Given the description of an element on the screen output the (x, y) to click on. 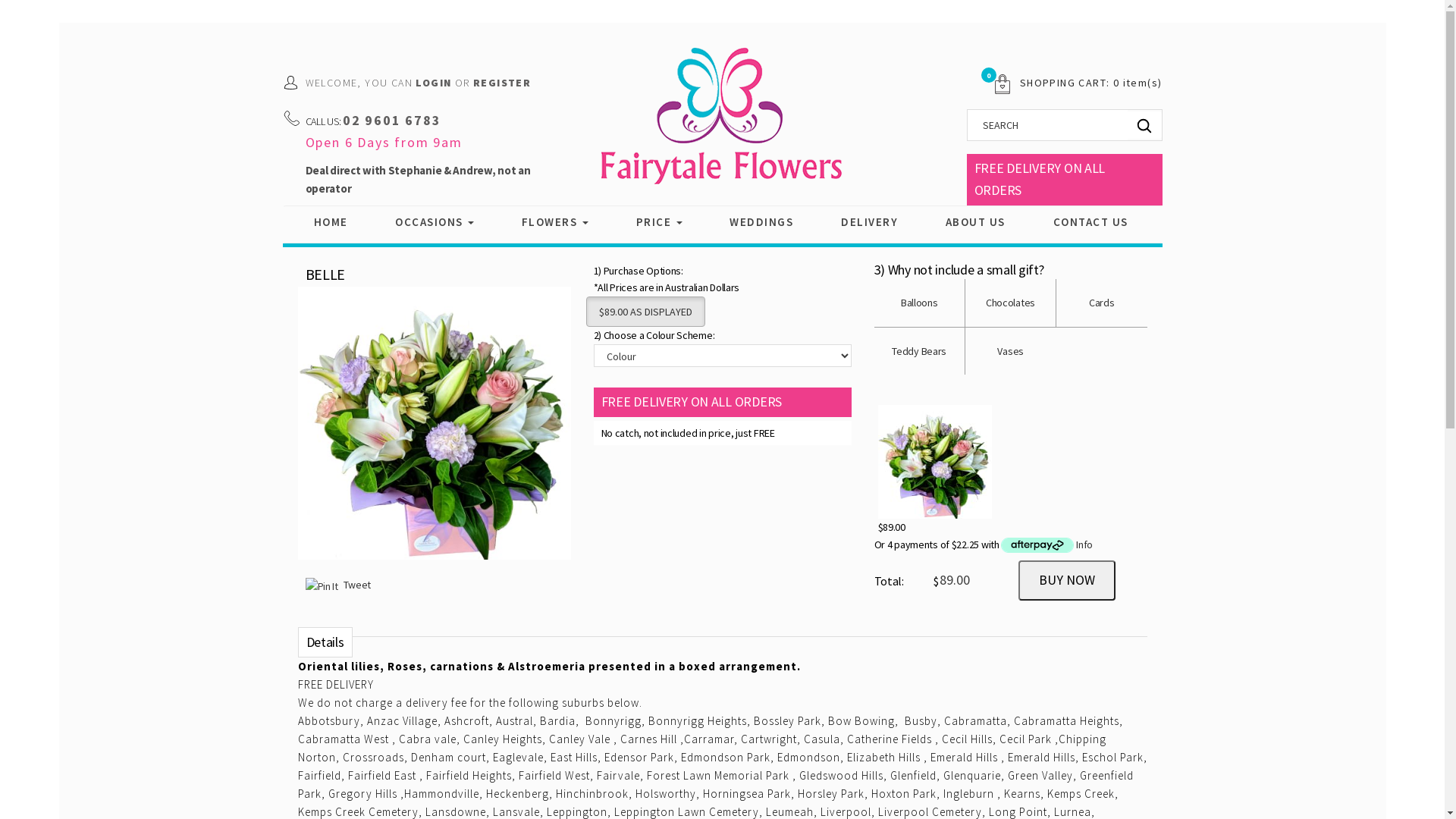
Tweet Element type: text (356, 584)
WEDDINGS Element type: text (760, 222)
Vases Element type: text (1010, 350)
DELIVERY Element type: text (869, 222)
CONTACT US Element type: text (1090, 222)
REGISTER Element type: text (501, 82)
Belle Element type: hover (433, 430)
Cards Element type: text (1101, 302)
Chocolates Element type: text (1010, 302)
Teddy Bears Element type: text (918, 350)
LOGIN Element type: text (433, 82)
ABOUT US Element type: text (975, 222)
0 Element type: text (996, 82)
PRICE Element type: text (659, 222)
OCCASIONS Element type: text (434, 222)
Info Element type: text (1084, 544)
$89.00 AS DISPLAYED Element type: text (644, 311)
FLOWERS Element type: text (554, 222)
SHOPPING CART: 0 item(s) Element type: text (1090, 82)
HOME Element type: text (330, 222)
Balloons Element type: text (919, 302)
Pin It Element type: hover (320, 585)
Buy Now Element type: text (1065, 579)
